Given the description of an element on the screen output the (x, y) to click on. 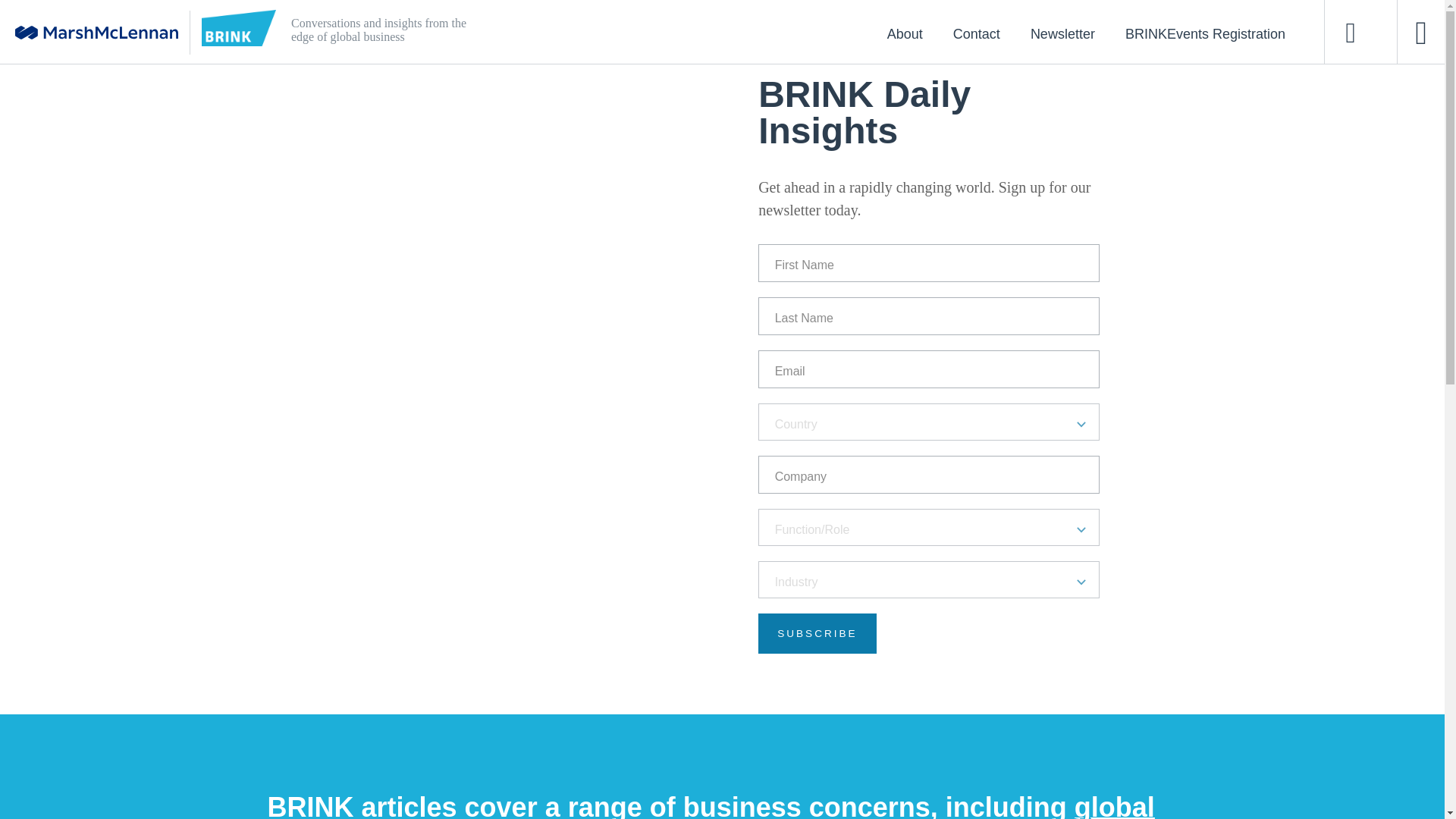
BRINKEvents Registration (1204, 33)
Subscribe (817, 633)
Newsletter (1061, 33)
Subscribe (817, 633)
global economic health (710, 805)
Contact (975, 33)
Conversations and insights from the edge of global business (653, 32)
About (904, 33)
